Given the description of an element on the screen output the (x, y) to click on. 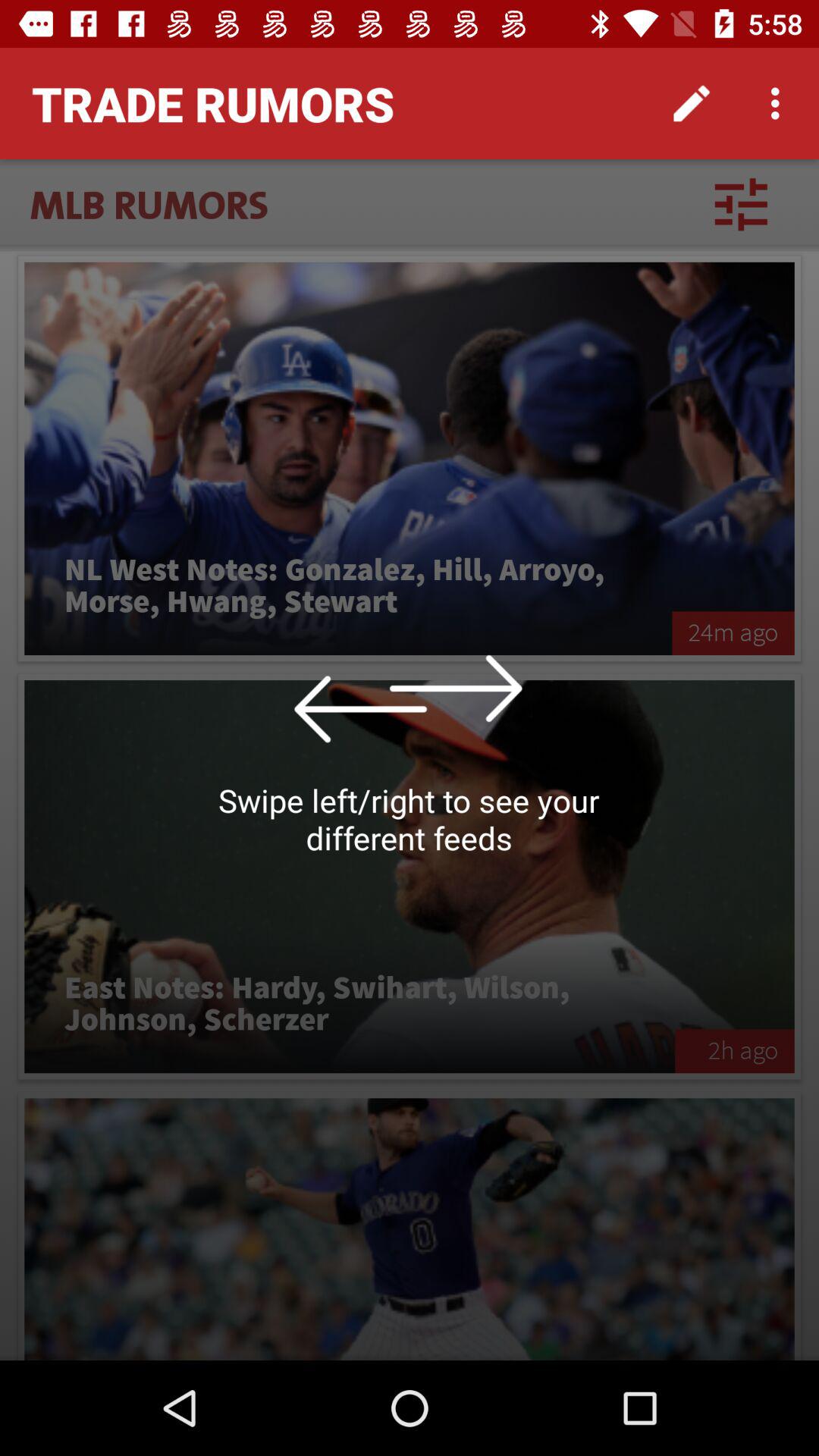
choose the 24m ago icon (733, 633)
